Given the description of an element on the screen output the (x, y) to click on. 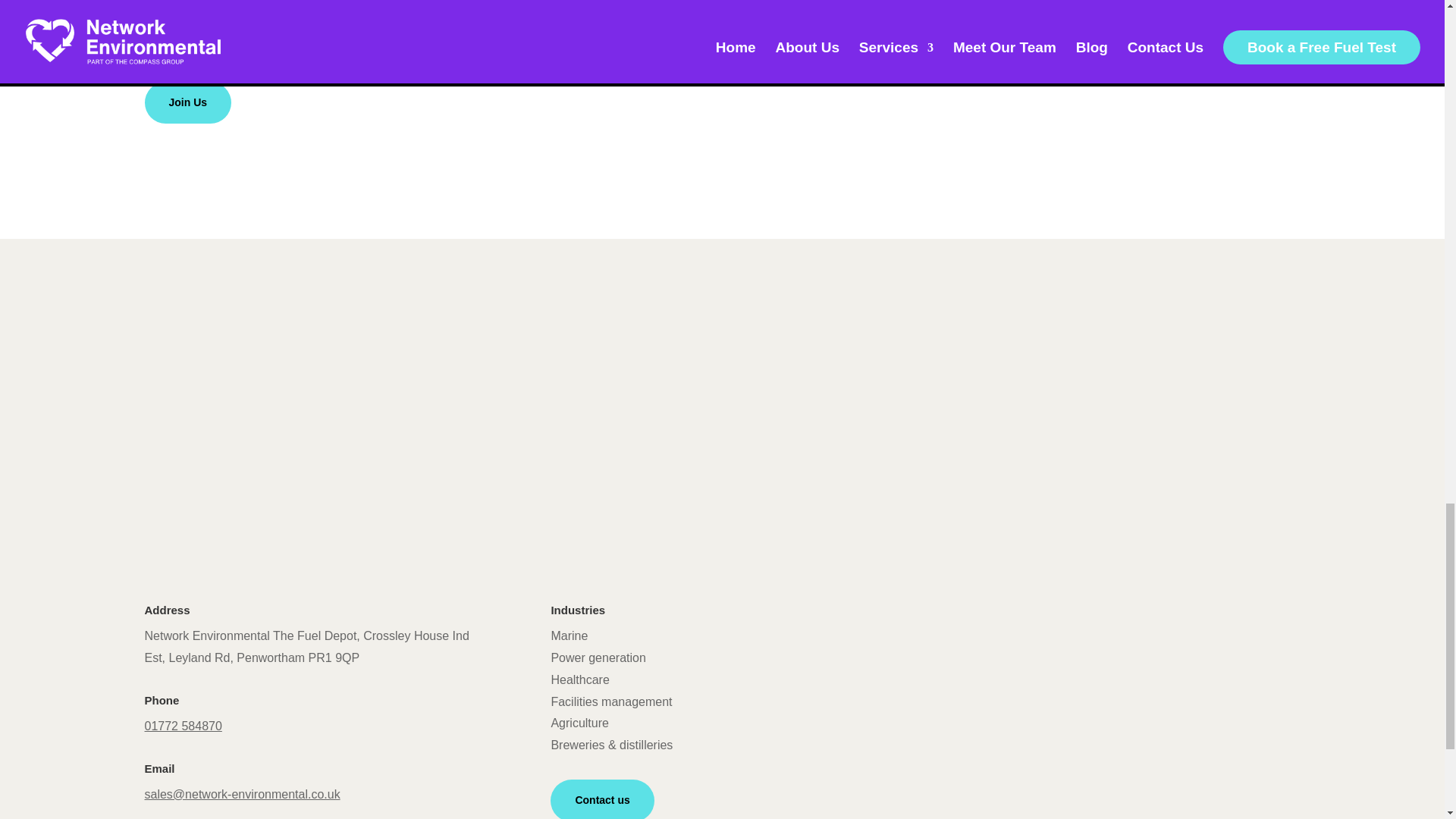
01772 584870 (182, 725)
Join Us (187, 102)
Contact us (601, 799)
